Given the description of an element on the screen output the (x, y) to click on. 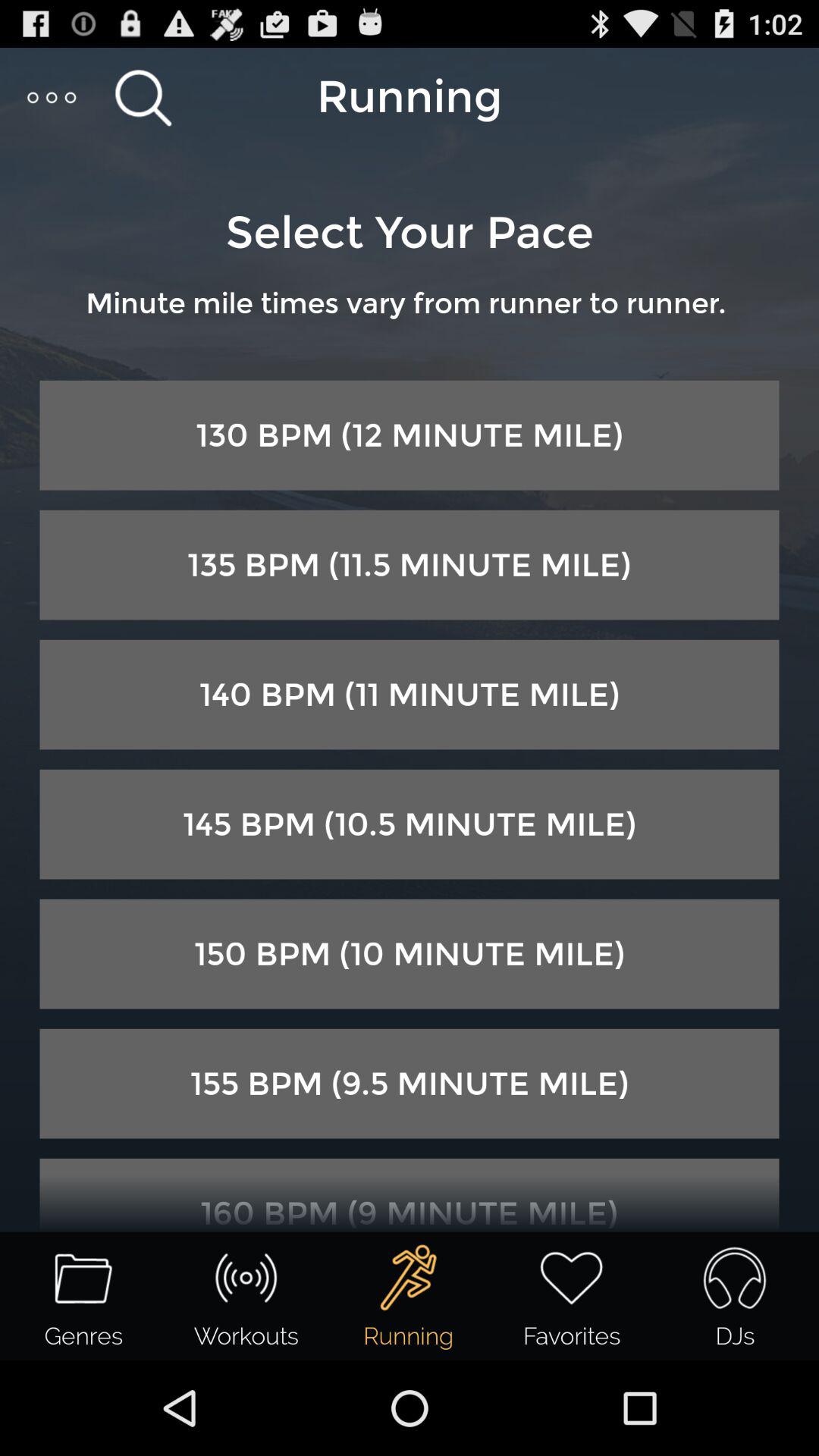
dropdown menu (52, 97)
